Given the description of an element on the screen output the (x, y) to click on. 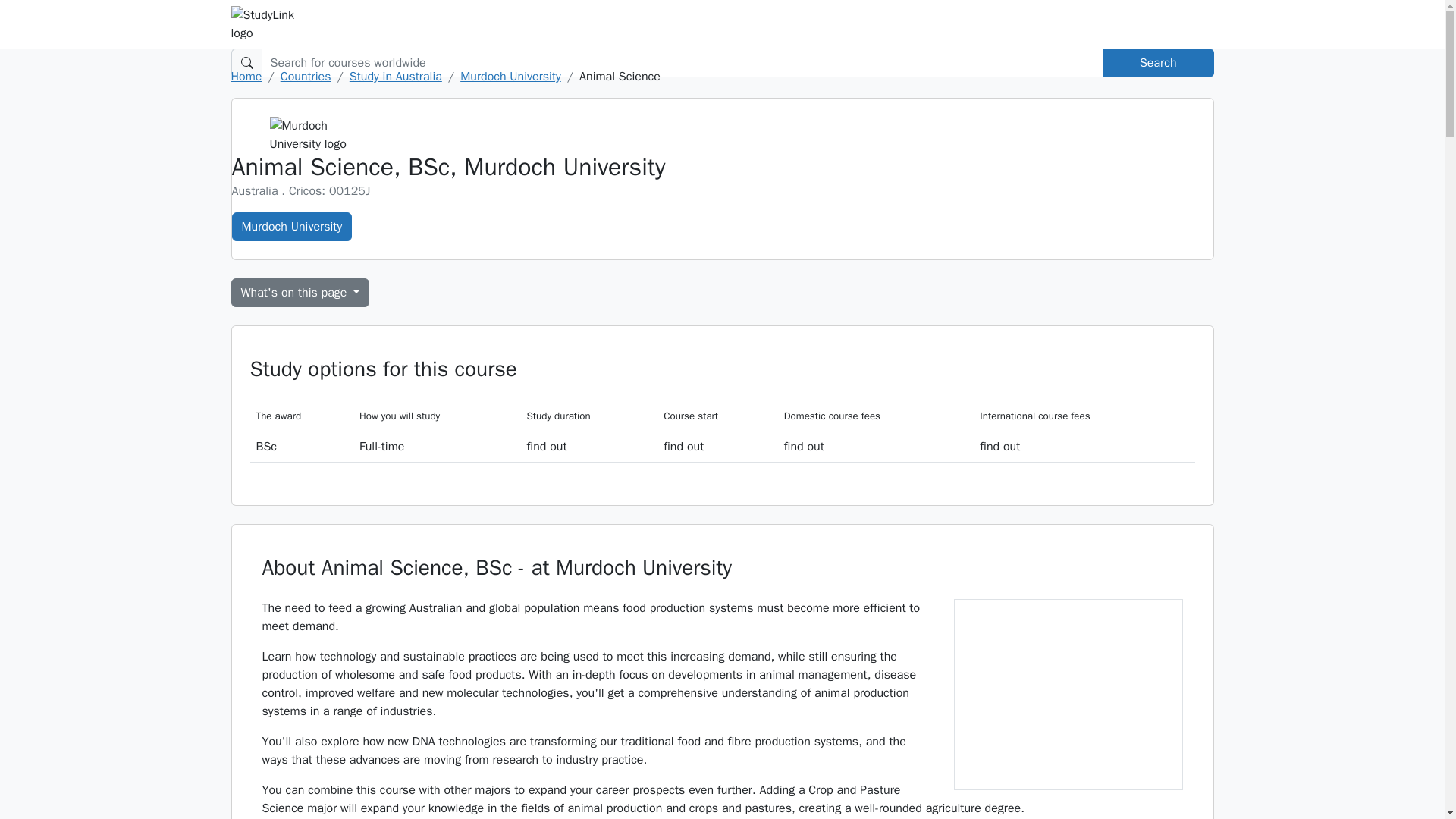
Visit the provider website to learn more (589, 445)
Visit the provider website to learn more (875, 445)
Visit the provider website to learn more (717, 445)
Visit the provider website to learn more (1083, 445)
